Given the description of an element on the screen output the (x, y) to click on. 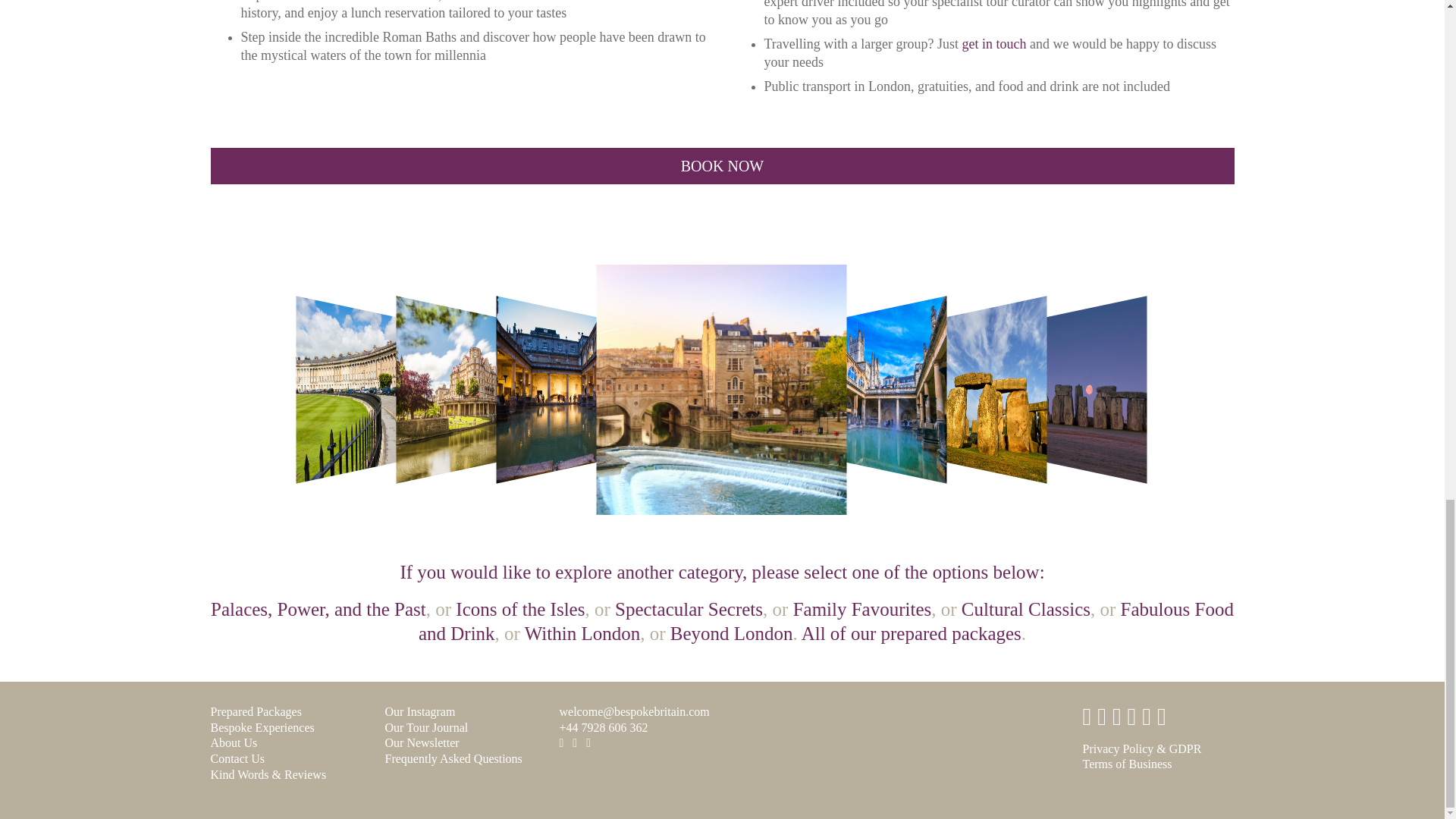
Terms of Business (1127, 763)
BOOK NOW (722, 166)
About Us (234, 742)
Contact Us (237, 758)
get in touch (993, 43)
Icons of the Isles (520, 608)
Within London (582, 633)
Fabulous Food and Drink (826, 621)
Cultural Classics (1025, 608)
Prepared Packages (256, 711)
Our Instagram (420, 711)
Bespoke Experiences (262, 727)
Frequently Asked Questions (453, 758)
Our Tour Journal (426, 727)
Beyond London (731, 633)
